Given the description of an element on the screen output the (x, y) to click on. 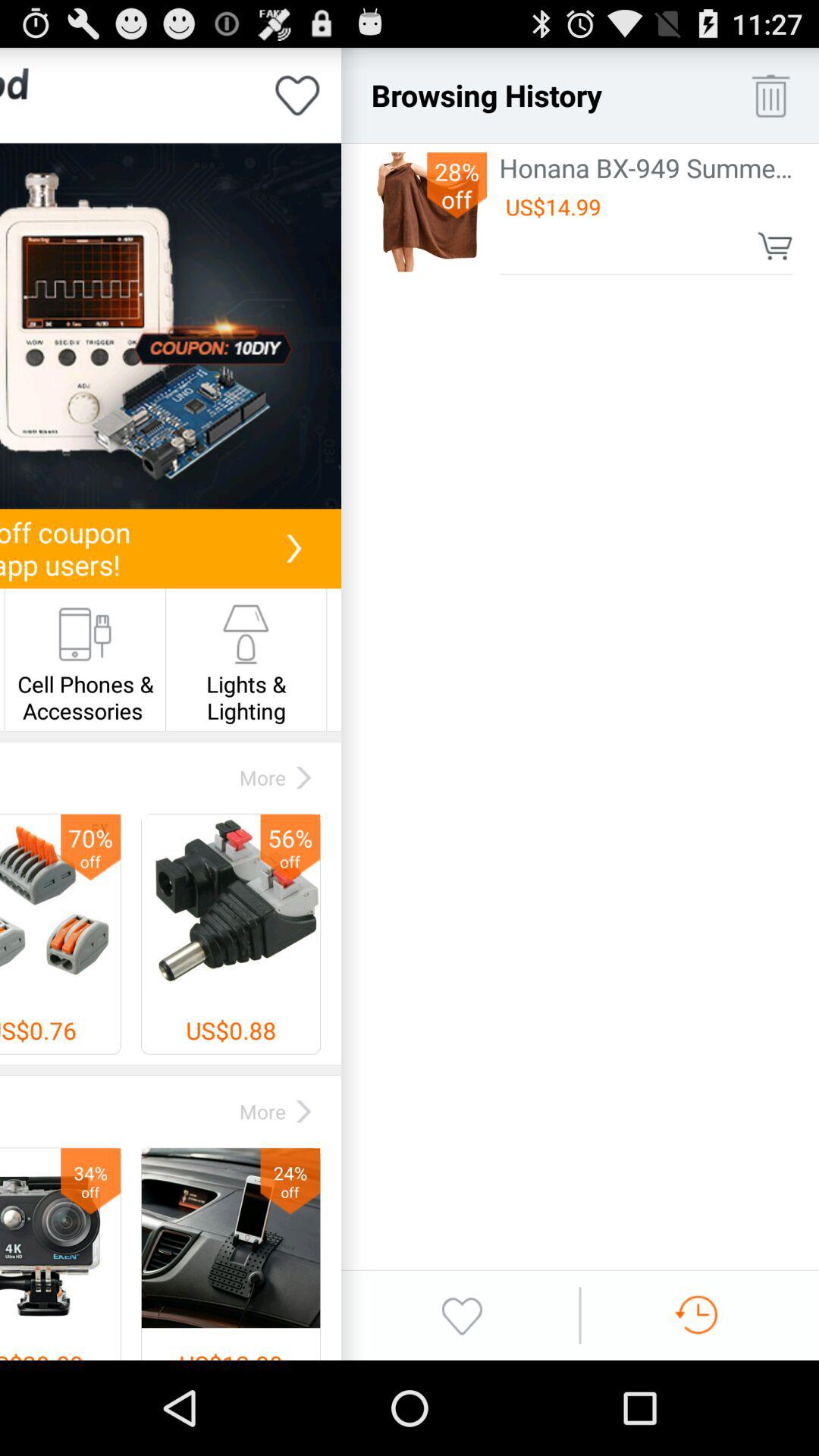
press the 28%
off icon (456, 185)
